Given the description of an element on the screen output the (x, y) to click on. 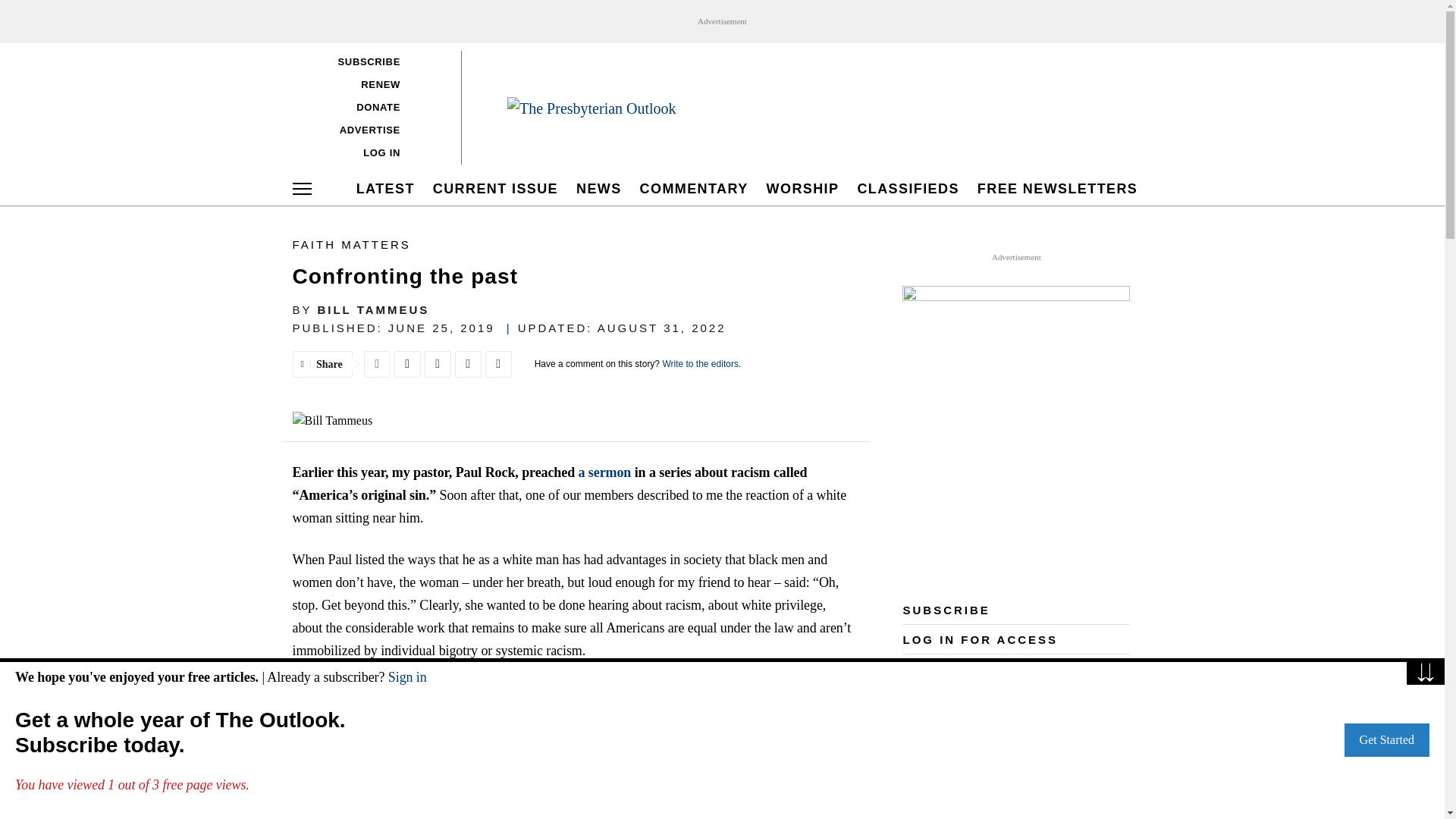
FREE NEWSLETTERS (1057, 187)
Posts by Bill Tammeus (373, 309)
Worship (802, 187)
Donate (368, 106)
Current Issue (495, 187)
Advertise (368, 128)
Commentary (694, 187)
Subscribe (368, 60)
LATEST (385, 187)
Classifieds (907, 187)
